Given the description of an element on the screen output the (x, y) to click on. 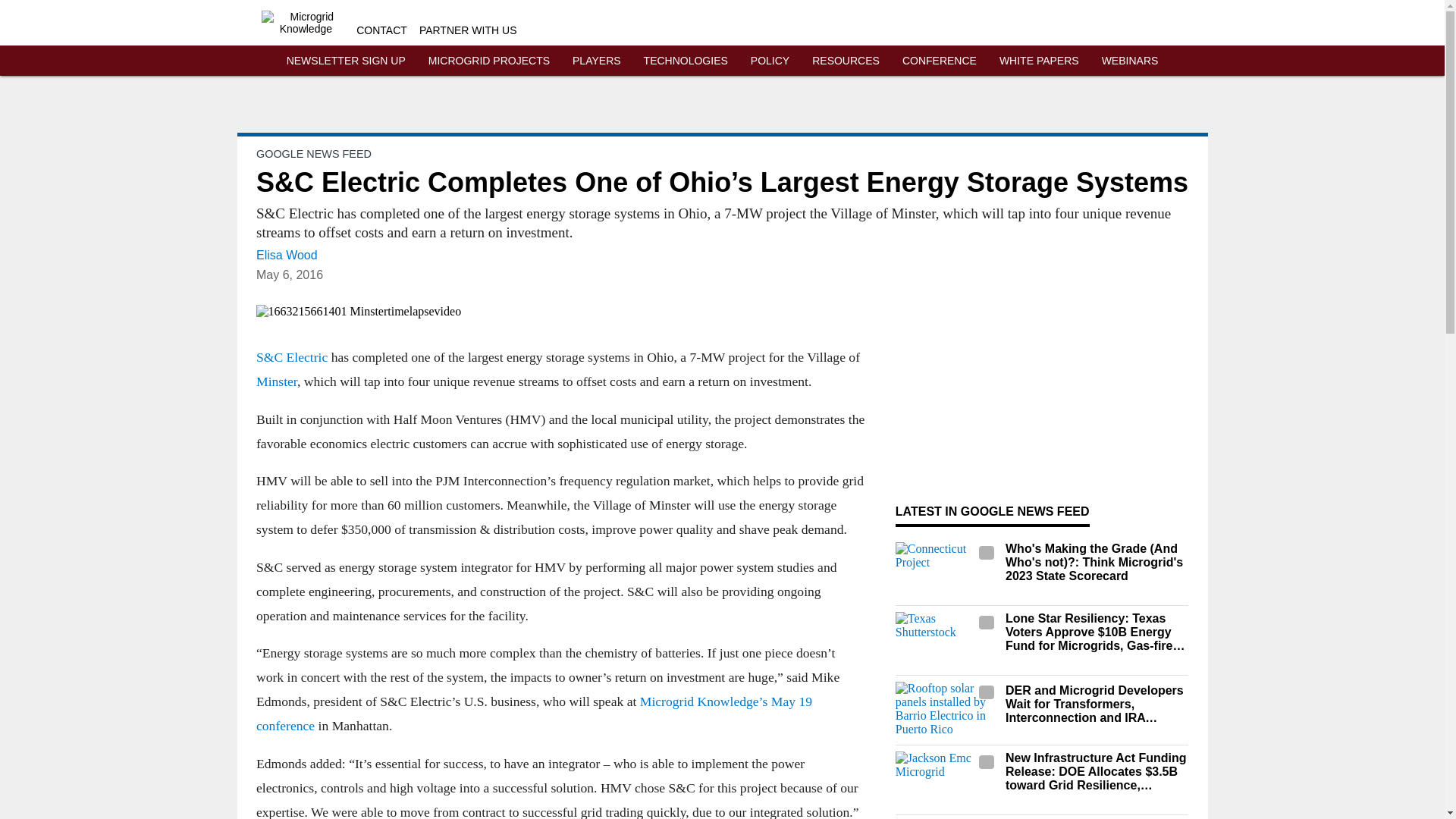
Connecticut Project (946, 570)
PLAYERS (596, 60)
WEBINARS (1130, 60)
Minster (276, 381)
POLICY (770, 60)
GOOGLE NEWS FEED (313, 153)
PARTNER WITH US (467, 30)
RESOURCES (845, 60)
WHITE PAPERS (1038, 60)
MICROGRID PROJECTS (489, 60)
